Given the description of an element on the screen output the (x, y) to click on. 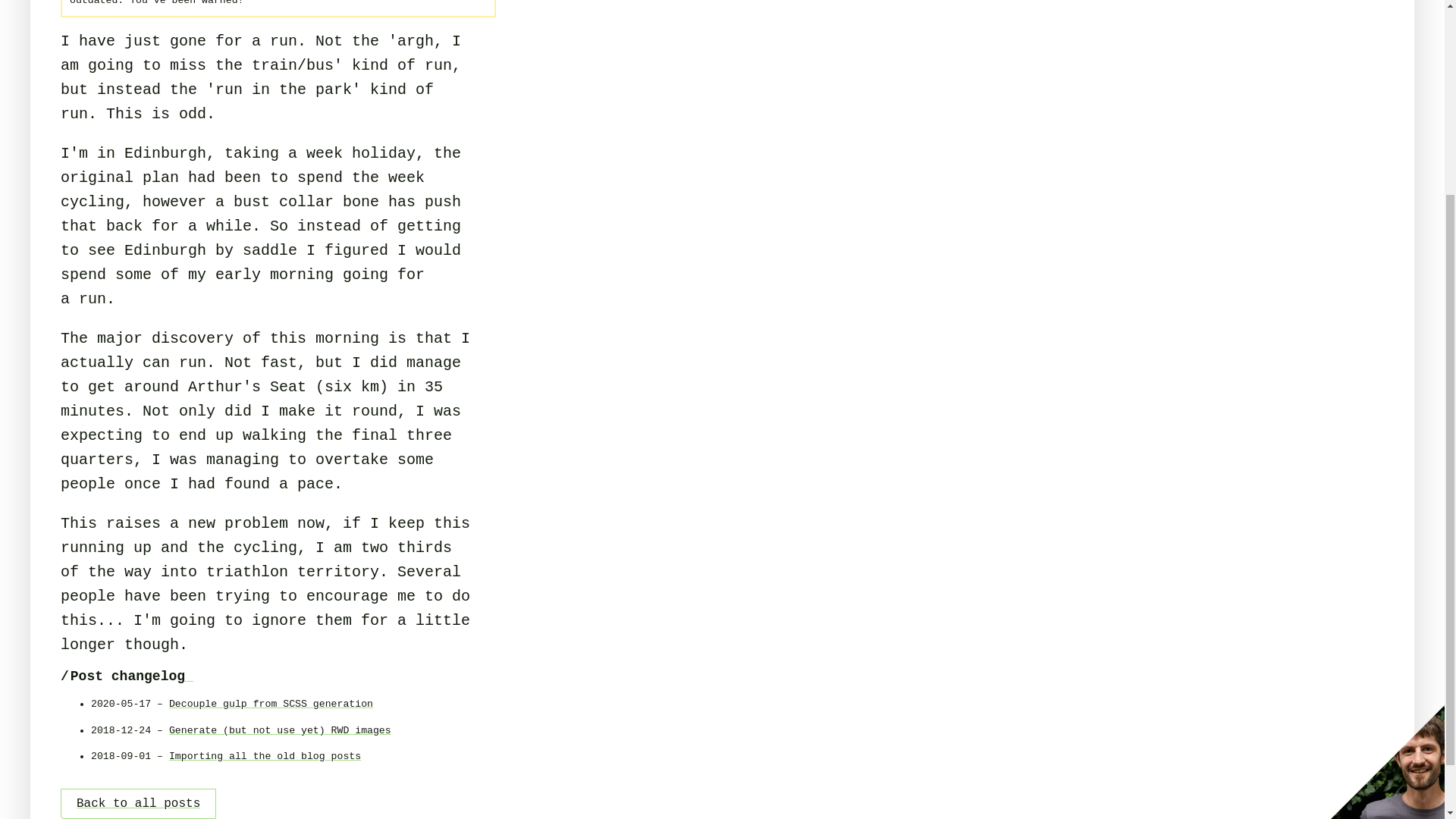
Importing all the old blog posts (264, 756)
Decouple gulp from SCSS generation (270, 704)
